Given the description of an element on the screen output the (x, y) to click on. 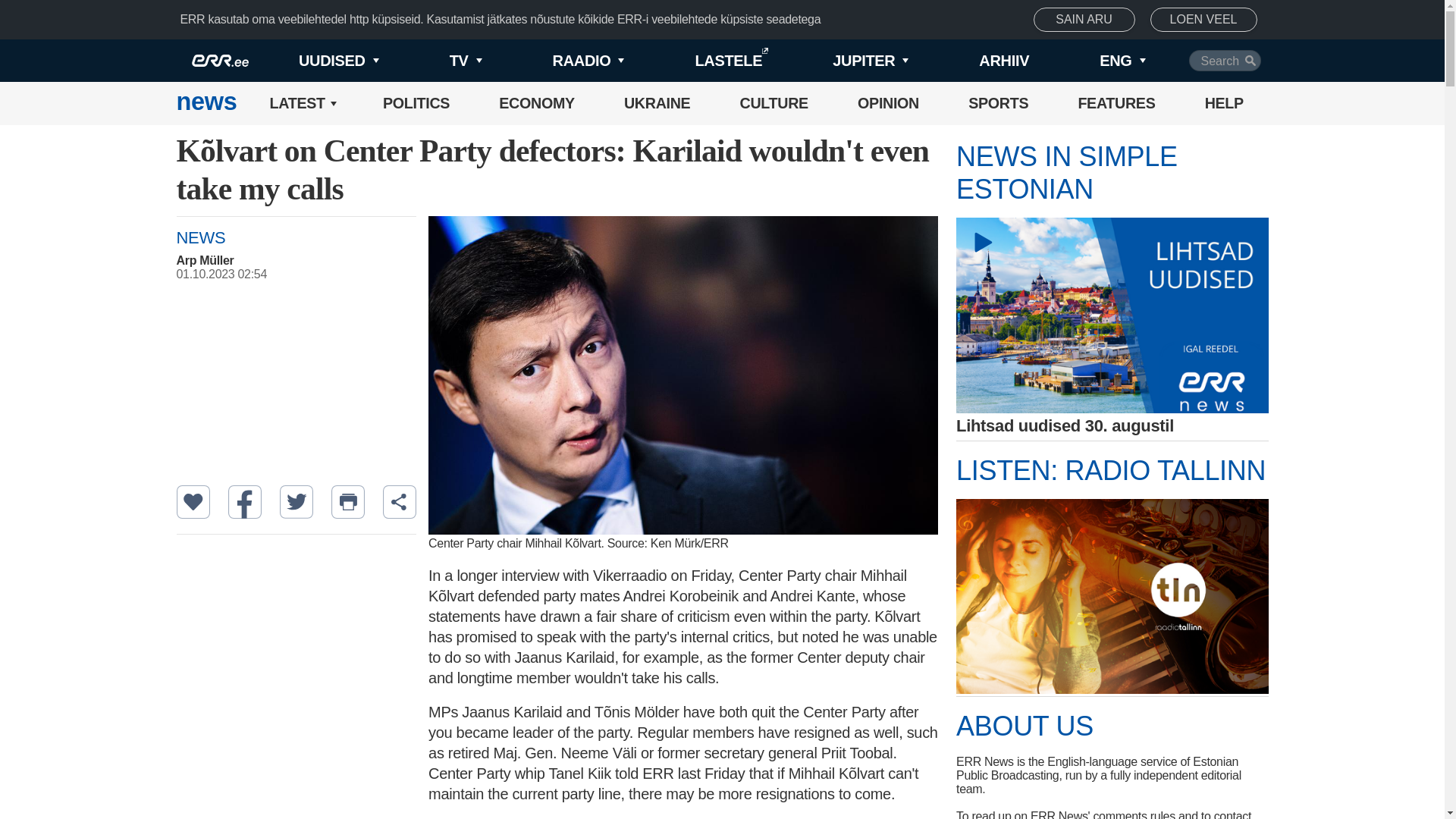
TV (440, 60)
UUDISED (314, 60)
Avalehele (205, 103)
SAIN ARU (1084, 19)
RAADIO (563, 60)
LOEN VEEL (1203, 19)
01.10.2023 02:54 (302, 274)
